Given the description of an element on the screen output the (x, y) to click on. 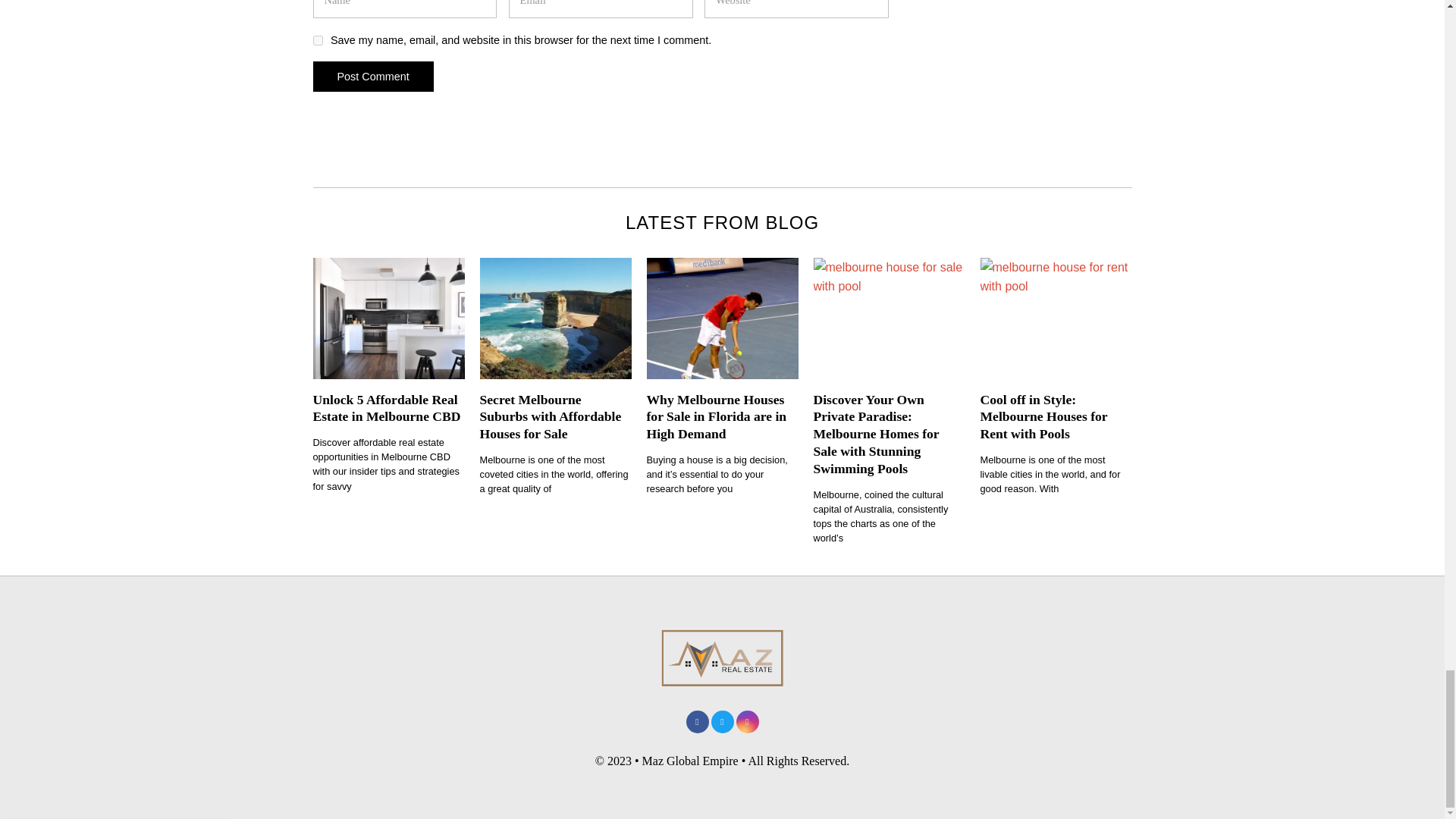
yes (317, 40)
Post Comment (372, 76)
Instagram (746, 721)
Twitter (722, 721)
Facebook (696, 721)
